Given the description of an element on the screen output the (x, y) to click on. 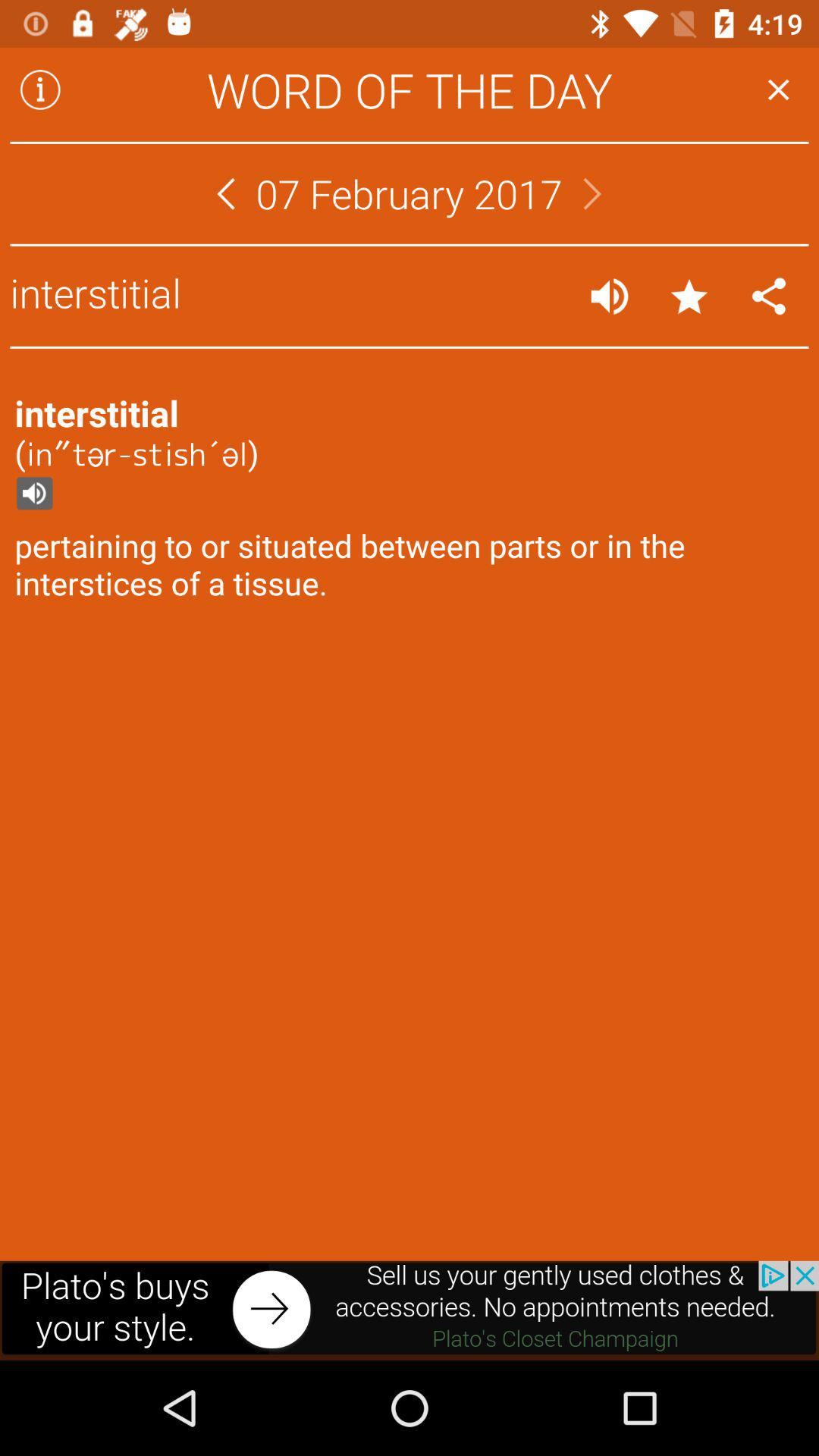
advance to the next day (592, 193)
